Given the description of an element on the screen output the (x, y) to click on. 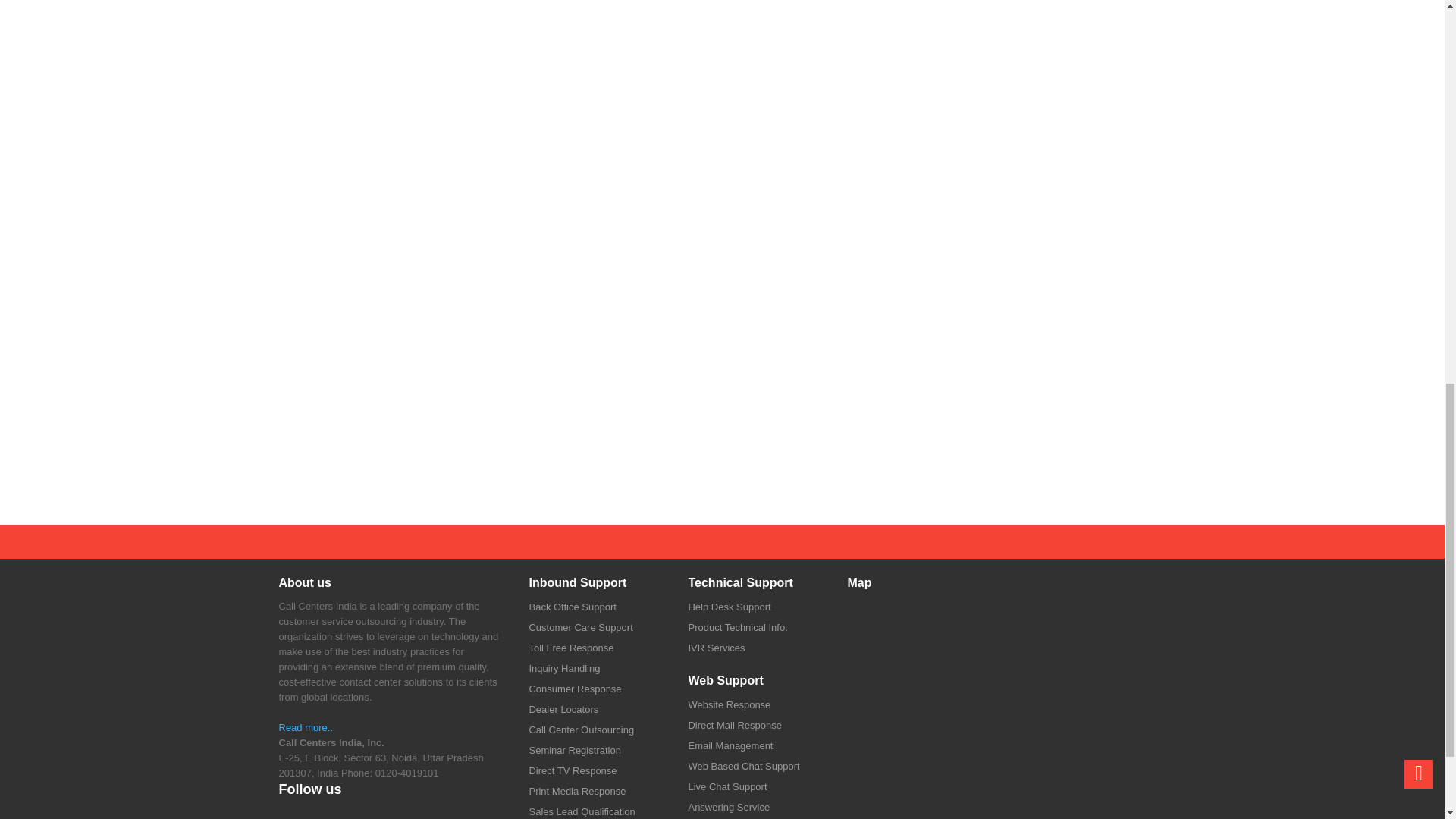
Read more.. (306, 727)
